Given the description of an element on the screen output the (x, y) to click on. 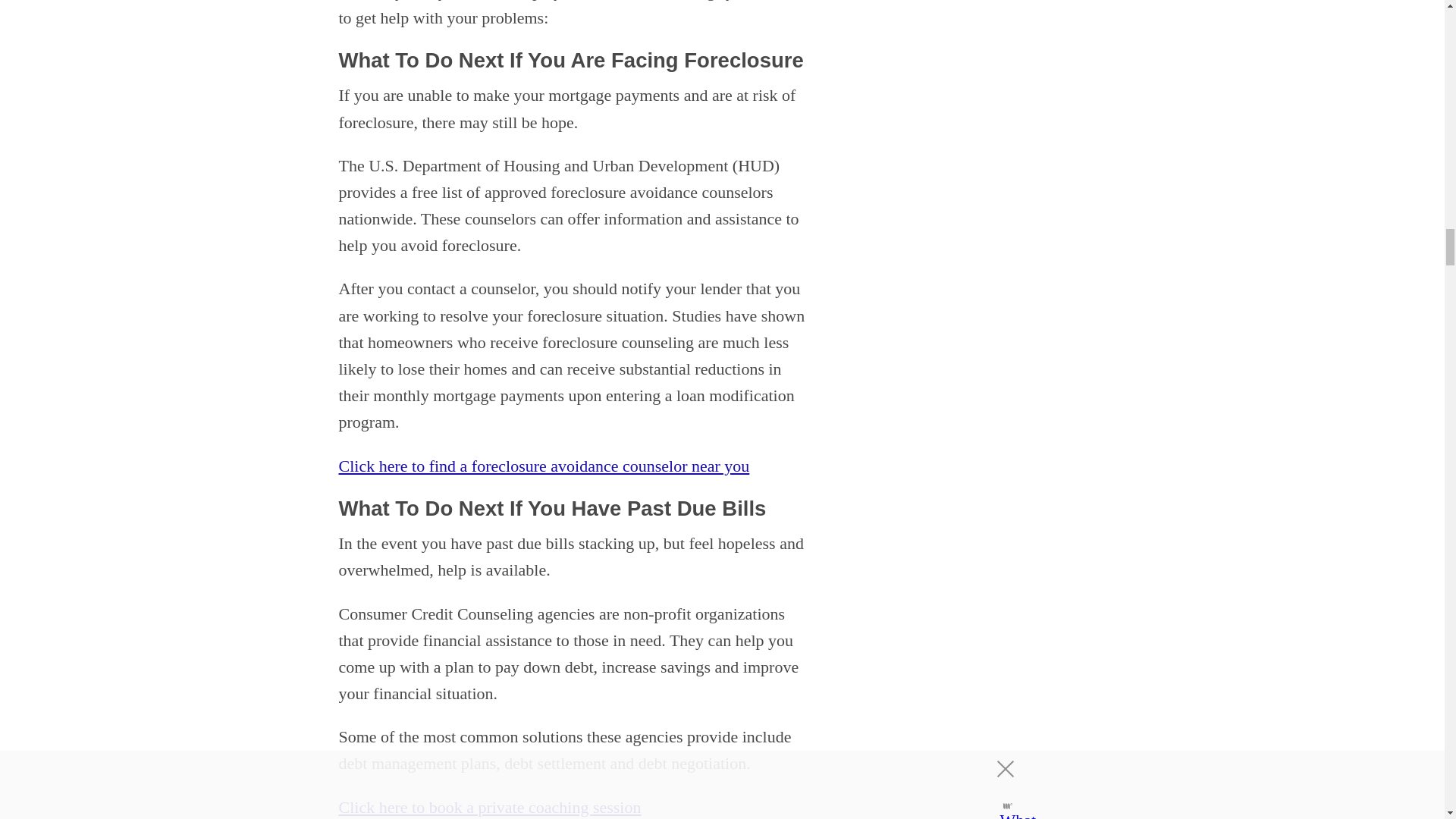
Click here to book a private coaching session (488, 806)
